Given the description of an element on the screen output the (x, y) to click on. 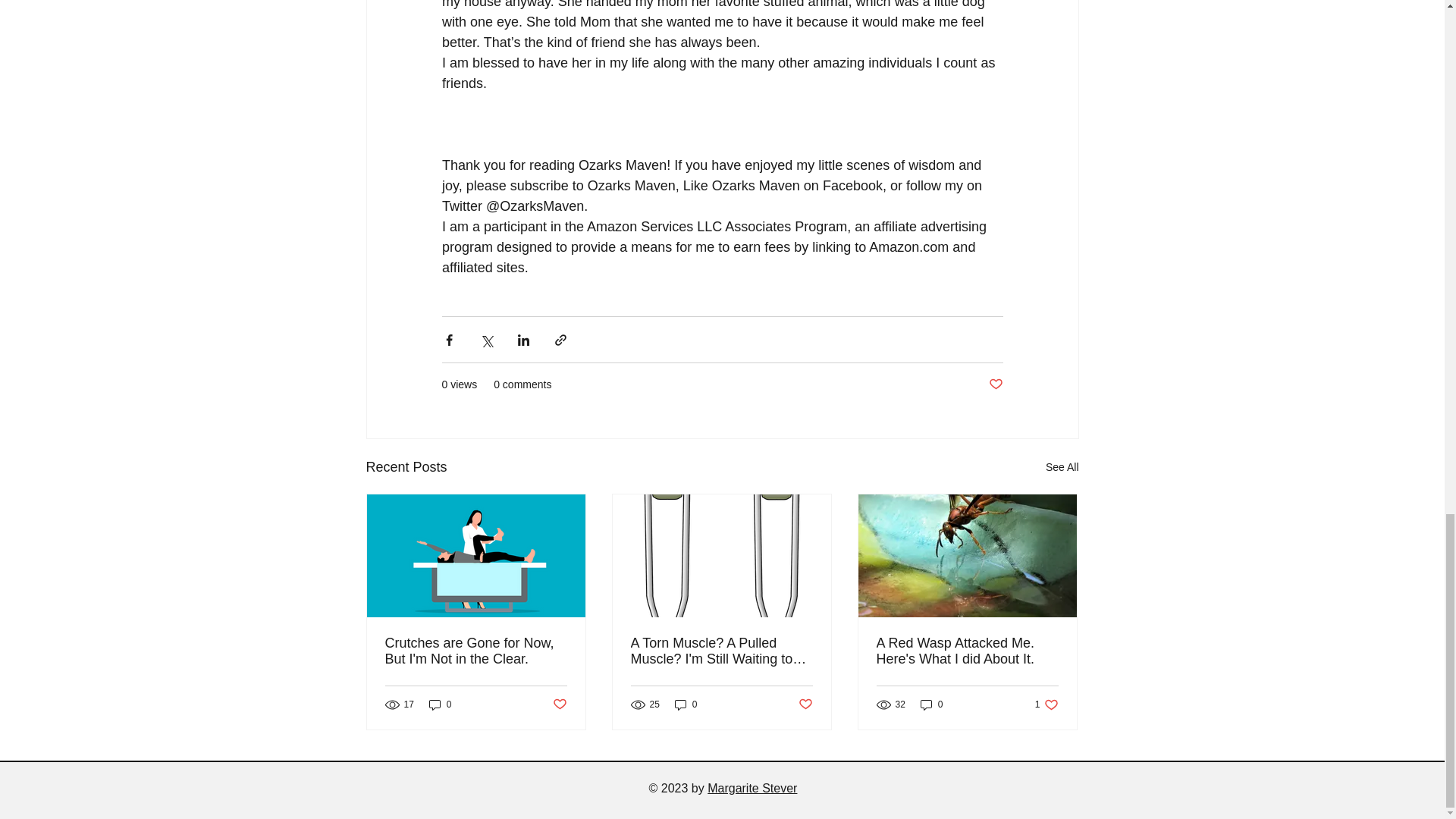
A Red Wasp Attacked Me. Here's What I did About It. (1046, 703)
0 (967, 651)
Post not marked as liked (440, 703)
Post not marked as liked (804, 704)
See All (558, 704)
Post not marked as liked (1061, 467)
0 (995, 384)
0 (931, 703)
Crutches are Gone for Now, But I'm Not in the Clear. (685, 703)
